Given the description of an element on the screen output the (x, y) to click on. 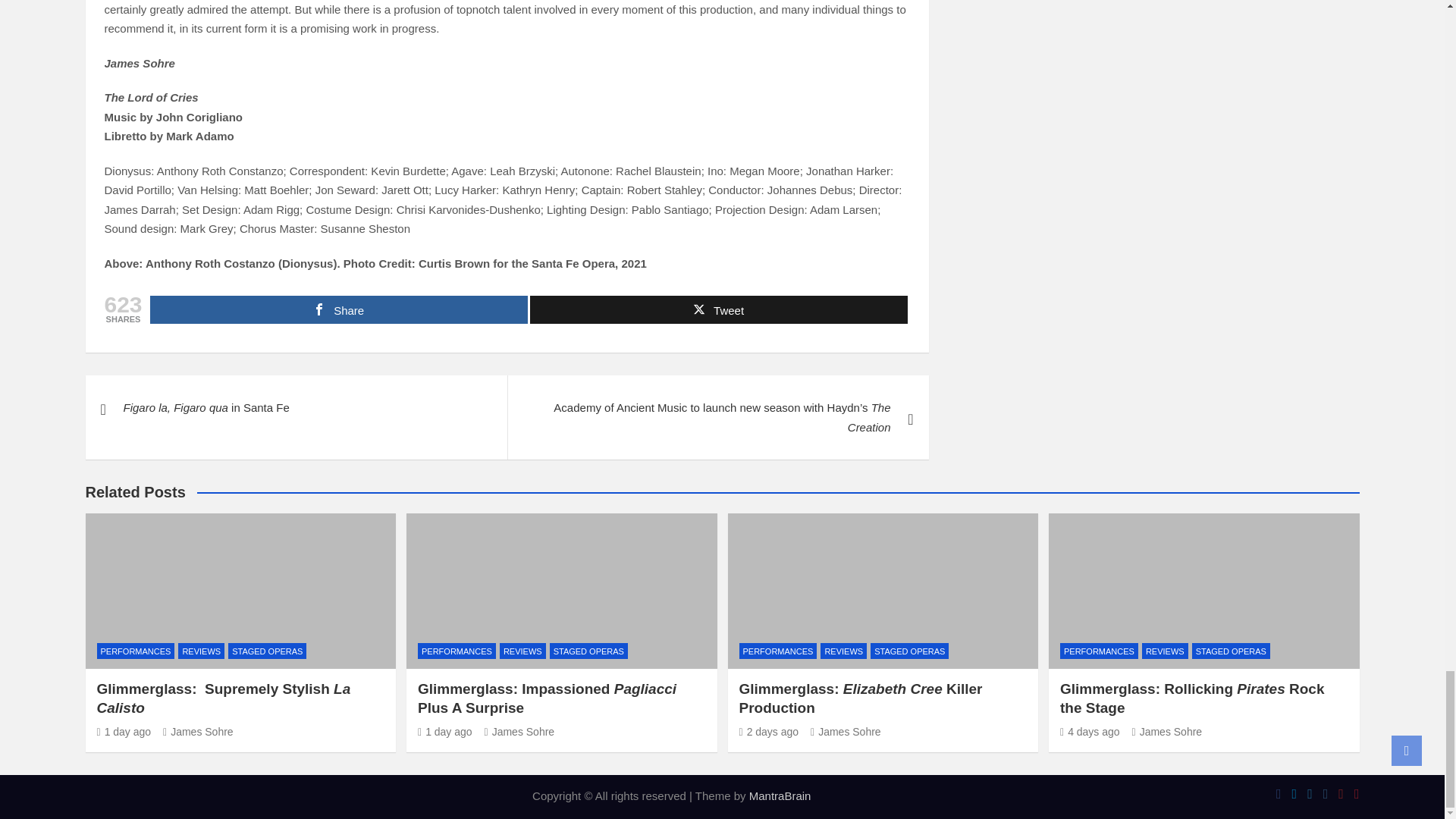
Tweet (718, 309)
Glimmerglass:  Supremely Stylish La Calisto (223, 697)
REVIEWS (200, 650)
1 day ago (124, 731)
Share (338, 309)
Figaro la, Figaro qua in Santa Fe (295, 407)
Glimmerglass: Impassioned Pagliacci Plus A Surprise (444, 731)
PERFORMANCES (135, 650)
STAGED OPERAS (266, 650)
STAGED OPERAS (588, 650)
